Given the description of an element on the screen output the (x, y) to click on. 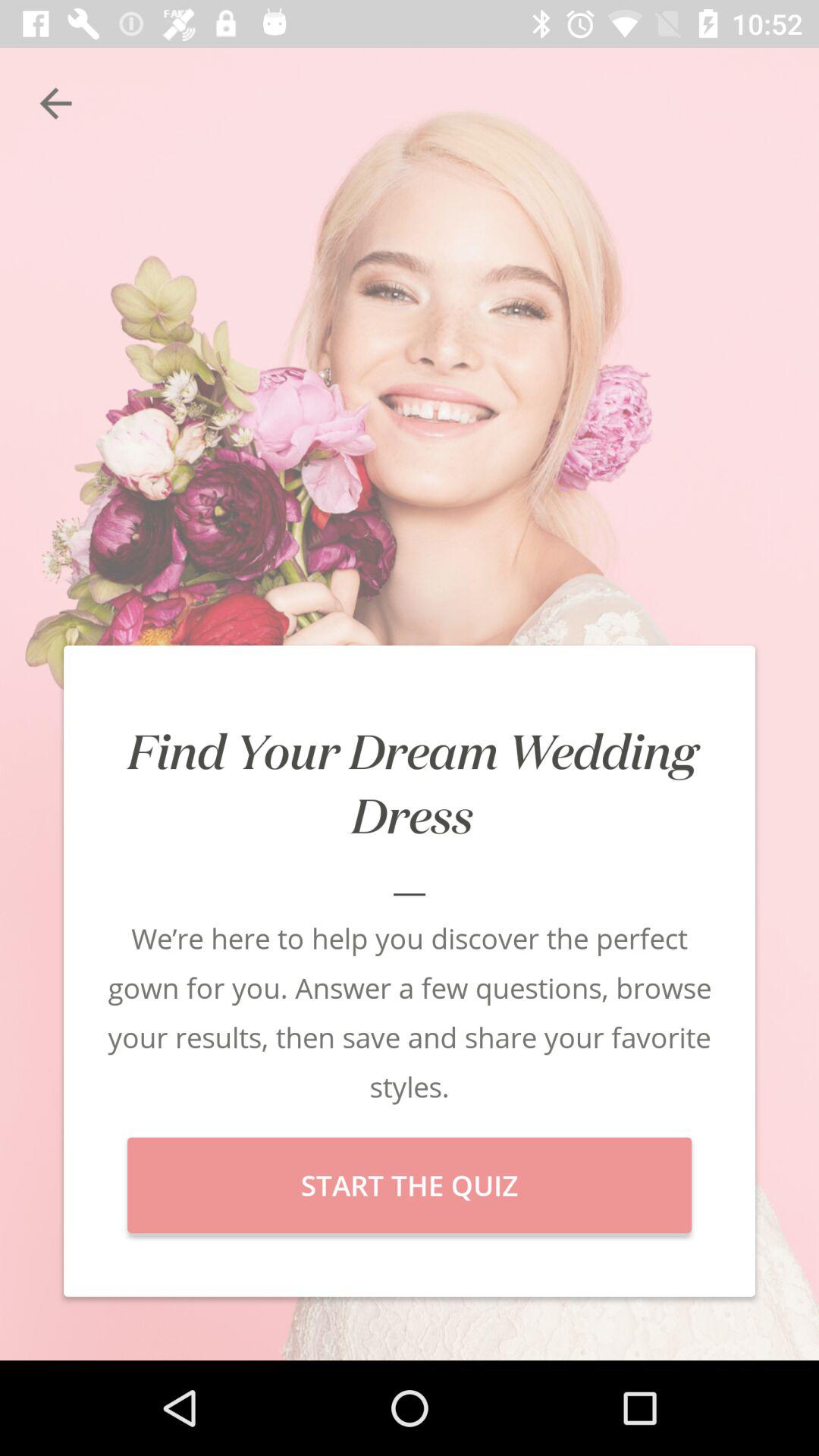
go back (55, 103)
